Given the description of an element on the screen output the (x, y) to click on. 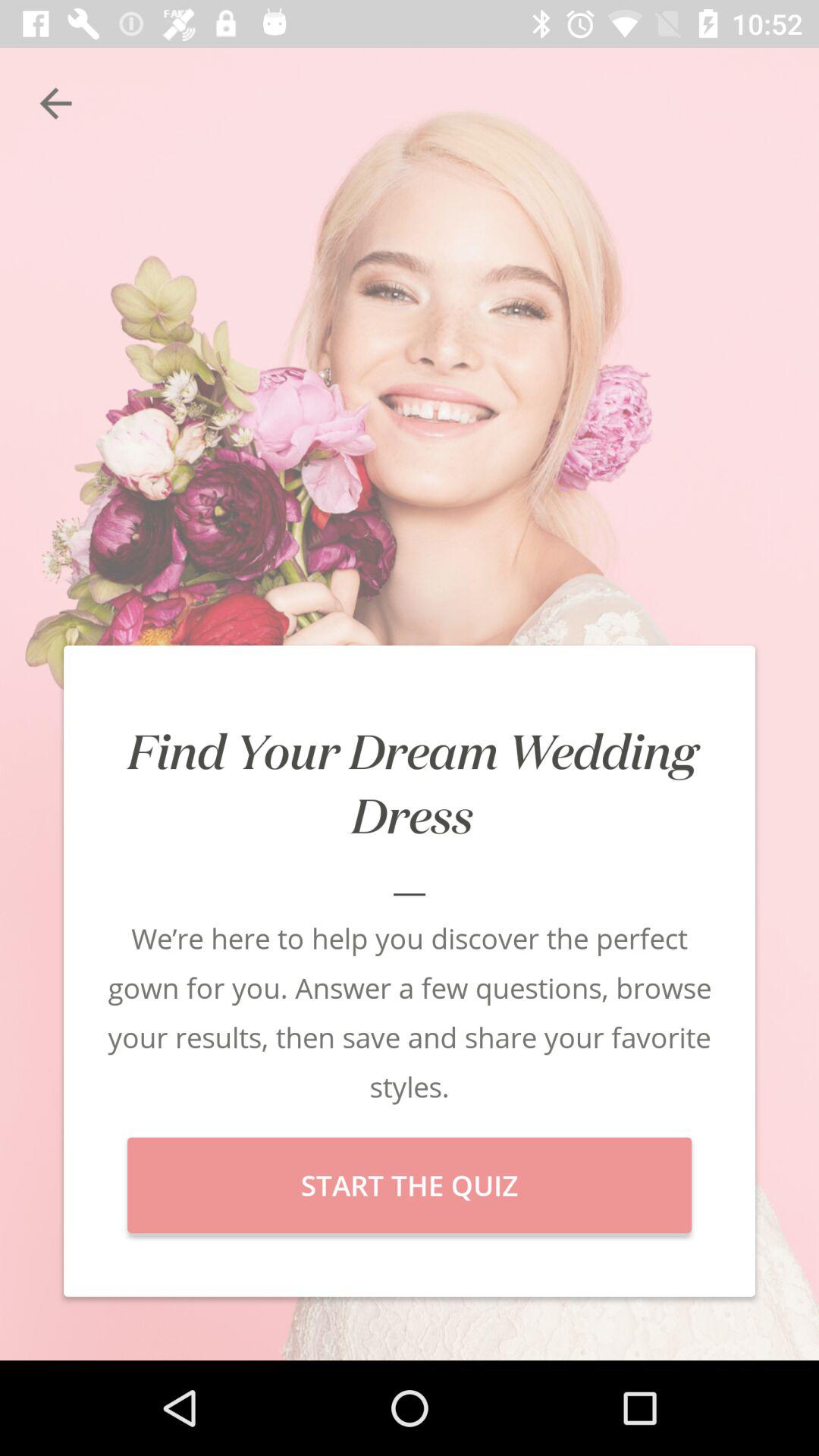
go back (55, 103)
